Given the description of an element on the screen output the (x, y) to click on. 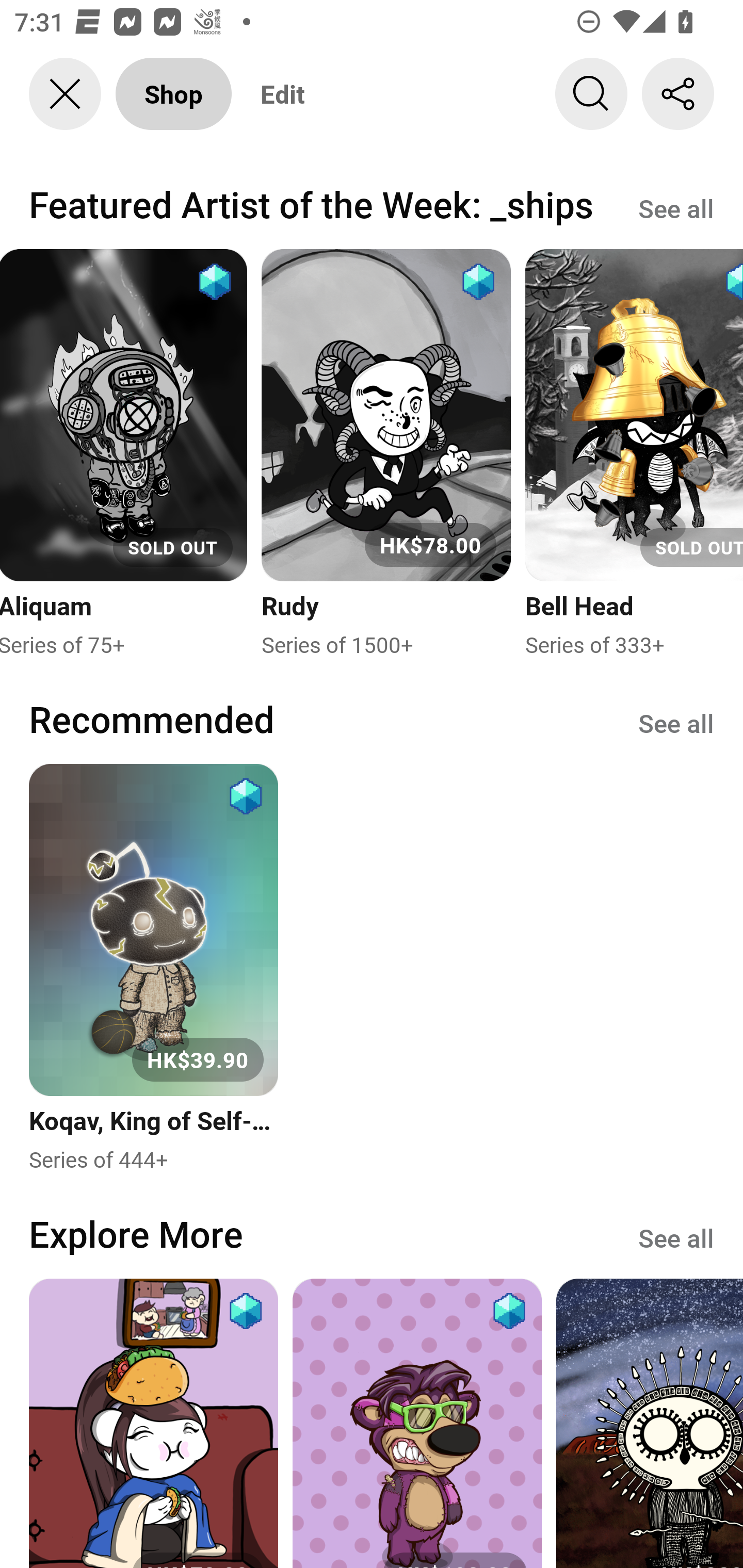
Close (64, 93)
Edit (282, 93)
Search (591, 93)
Share (677, 93)
Featured Artist of the Week: _ships (311, 203)
See all (676, 206)
Aliquam, Series of 75+, SOLD OUT (123, 453)
Rudy, Series of 1500+, HK$78.00 (386, 453)
Bell Head, Series of 333+, SOLD OUT (634, 453)
Recommended (151, 718)
See all (676, 723)
Koqav, King of Self-Care, Series of 444+, HK$39.90 (152, 968)
Explore More (135, 1233)
See all (676, 1235)
Happy Tacos, Series of 400+, HK$78.00 (152, 1422)
TONKO TEDDIES DOLL, Series of 500+, HK$198.00 (416, 1422)
Wandjina, Series of 500+, HK$389.00 (649, 1422)
